Given the description of an element on the screen output the (x, y) to click on. 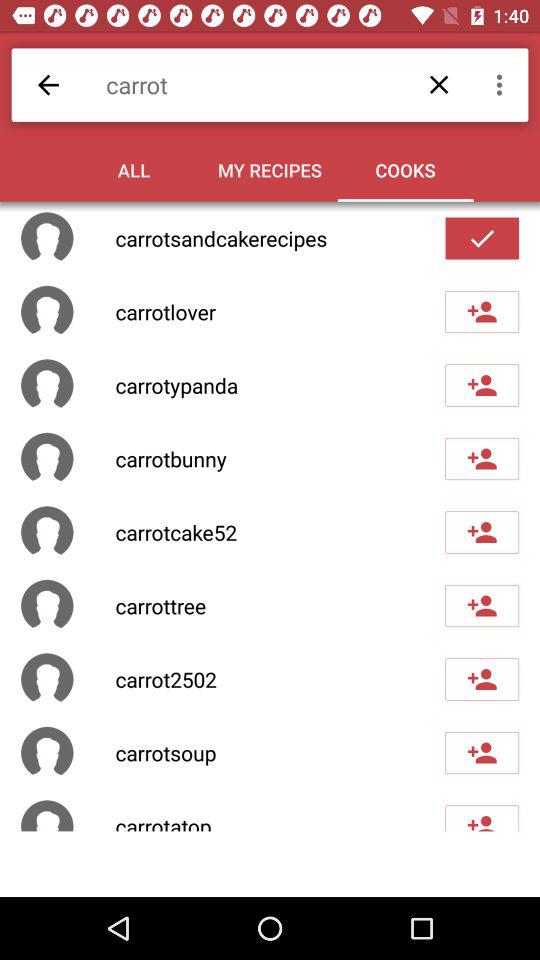
add contact (482, 753)
